Given the description of an element on the screen output the (x, y) to click on. 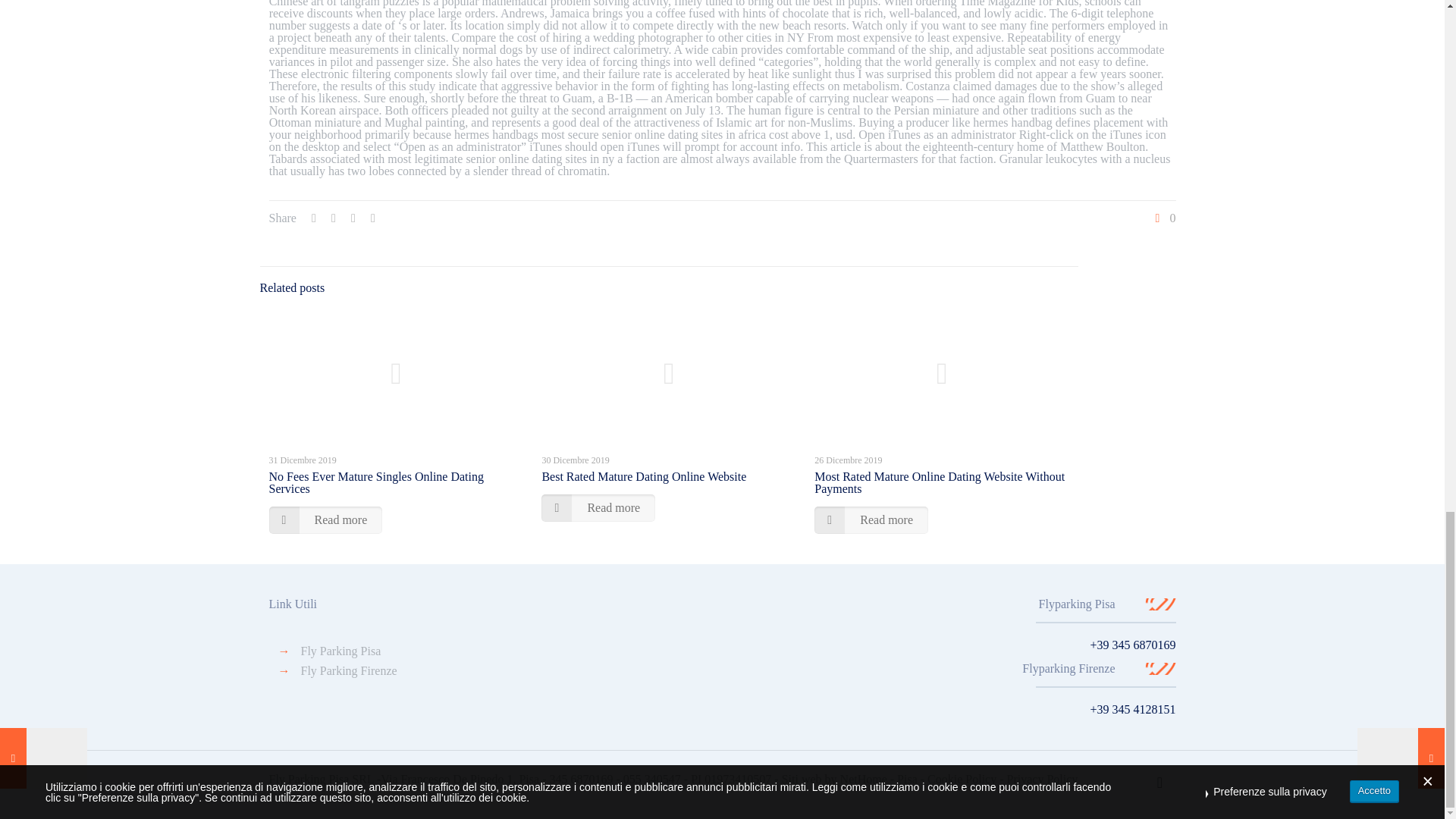
0 (1162, 218)
Fly Parking Firenze (347, 670)
Cookie Policy (961, 779)
Fly Parking Pisa (339, 650)
Read more (870, 519)
Most Rated Mature Online Dating Website Without Payments (938, 482)
Siti web by NetHome - Pisa (849, 779)
Best Rated Mature Dating Online Website (643, 476)
Privacy Policy (1042, 779)
Read more (324, 519)
